Given the description of an element on the screen output the (x, y) to click on. 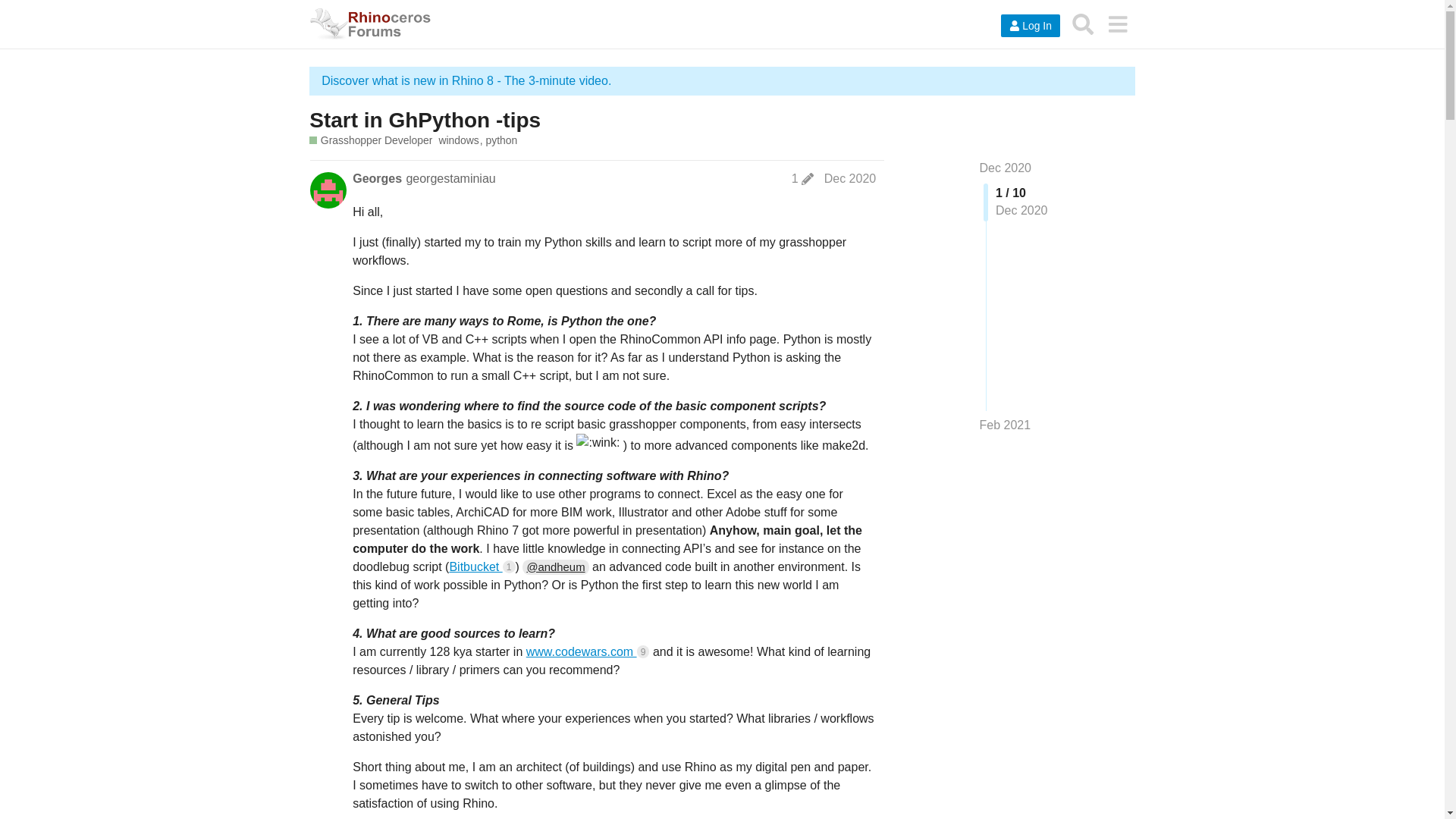
:wink: (598, 443)
Dec 2020 (850, 178)
1 (802, 178)
menu (1117, 23)
www.codewars.com 9 (587, 651)
Start in GhPython -tips (424, 119)
Search (1082, 23)
python (502, 140)
Jump to the last post (1004, 424)
windows (461, 140)
